Given the description of an element on the screen output the (x, y) to click on. 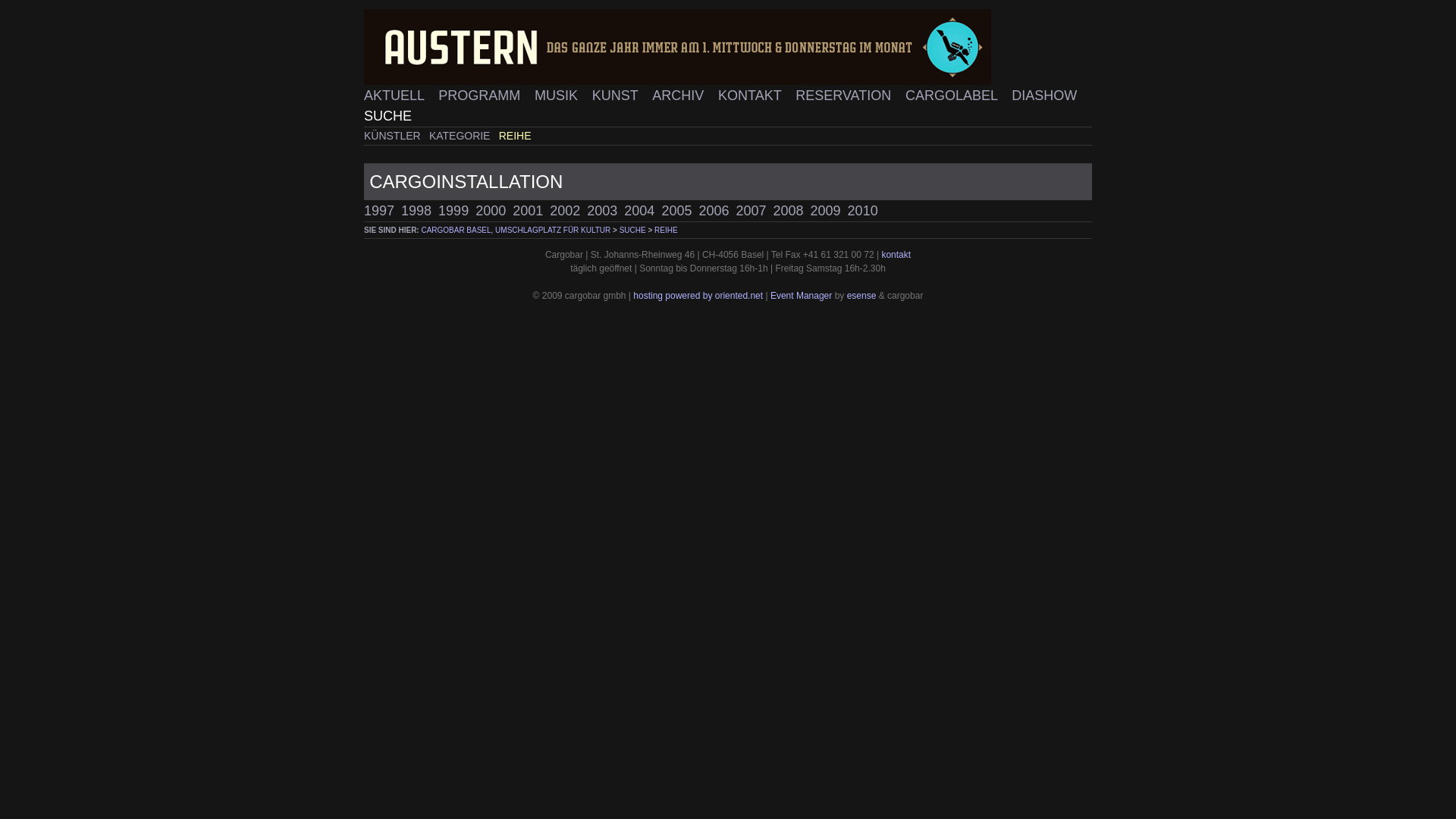
KUNST Element type: text (617, 95)
KONTAKT Element type: text (752, 95)
RESERVATION Element type: text (845, 95)
2006 Element type: text (716, 210)
2008 Element type: text (791, 210)
SUCHE Element type: text (632, 229)
2010 Element type: text (865, 210)
2007 Element type: text (753, 210)
CARGOLABEL Element type: text (953, 95)
kontakt Element type: text (895, 254)
1997 Element type: text (382, 210)
2000 Element type: text (493, 210)
1998 Element type: text (419, 210)
2005 Element type: text (679, 210)
Event Manager Element type: text (800, 295)
esense Element type: text (861, 295)
KATEGORIE Element type: text (461, 135)
2003 Element type: text (605, 210)
2002 Element type: text (567, 210)
PROGRAMM Element type: text (481, 95)
1999 Element type: text (456, 210)
Home Element type: hover (728, 47)
hosting powered by oriented.net Element type: text (697, 295)
REIHE Element type: text (515, 135)
DIASHOW Element type: text (1044, 95)
2001 Element type: text (530, 210)
2009 Element type: text (828, 210)
ARCHIV Element type: text (680, 95)
REIHE Element type: text (665, 229)
SUCHE Element type: text (388, 115)
2004 Element type: text (642, 210)
MUSIK Element type: text (558, 95)
AKTUELL Element type: text (396, 95)
